Given the description of an element on the screen output the (x, y) to click on. 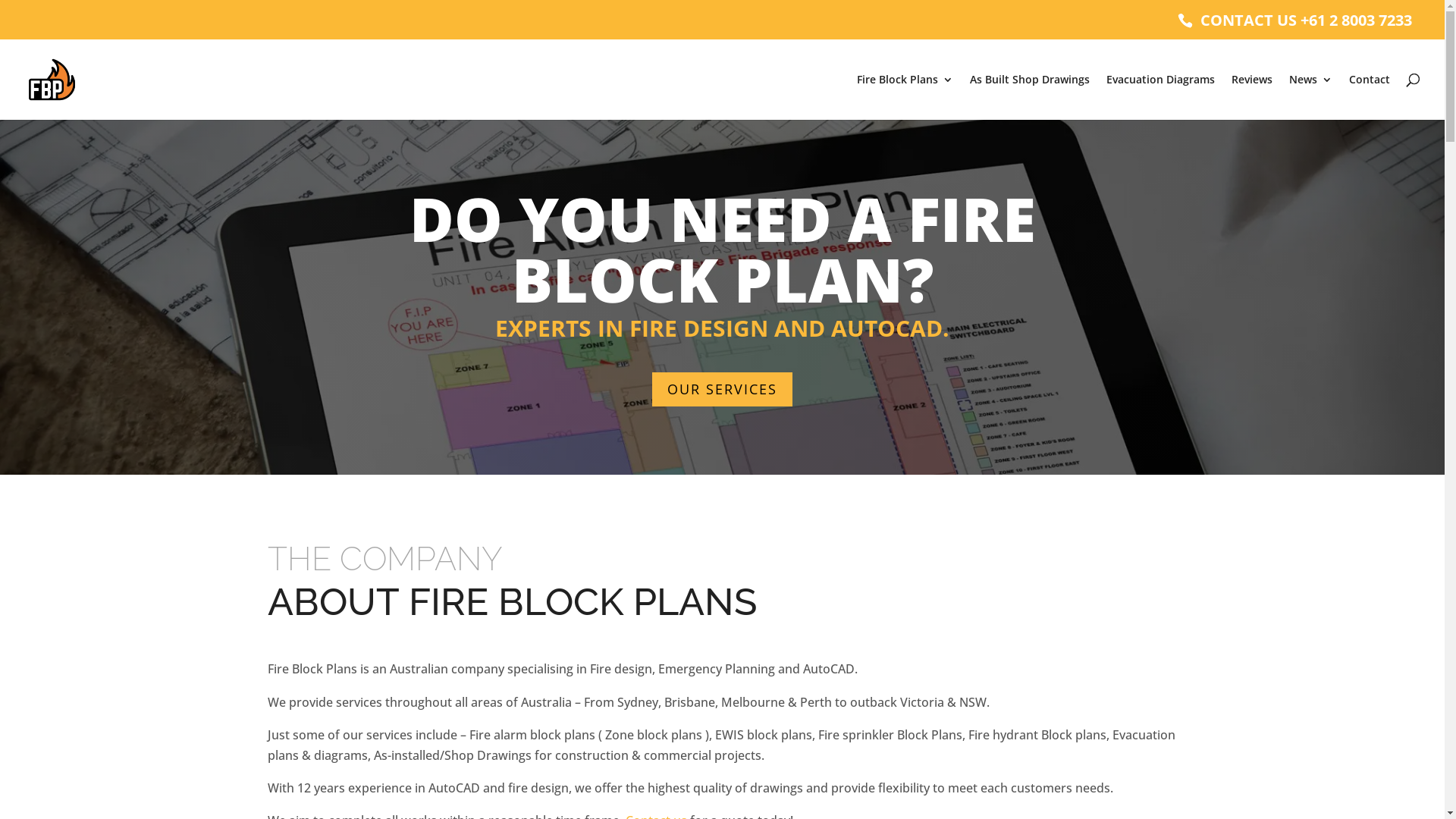
+61 2 8003 7233 Element type: text (1356, 19)
Reviews Element type: text (1251, 96)
OUR SERVICES Element type: text (722, 389)
Fire Block Plans Element type: text (904, 96)
Contact Element type: text (1369, 96)
News Element type: text (1310, 96)
Evacuation Diagrams Element type: text (1160, 96)
As Built Shop Drawings Element type: text (1029, 96)
